Given the description of an element on the screen output the (x, y) to click on. 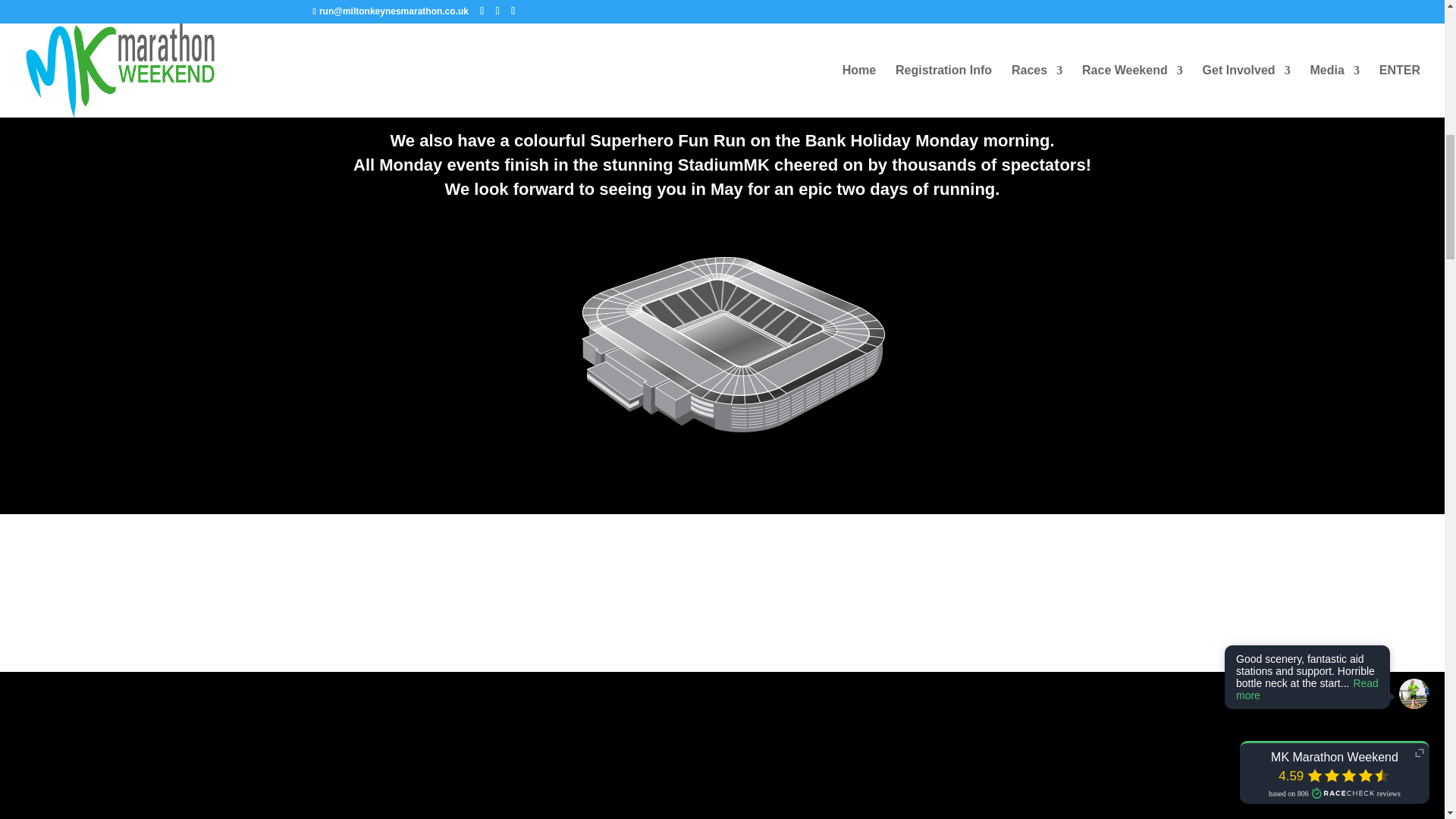
StadiumMK (721, 349)
